Given the description of an element on the screen output the (x, y) to click on. 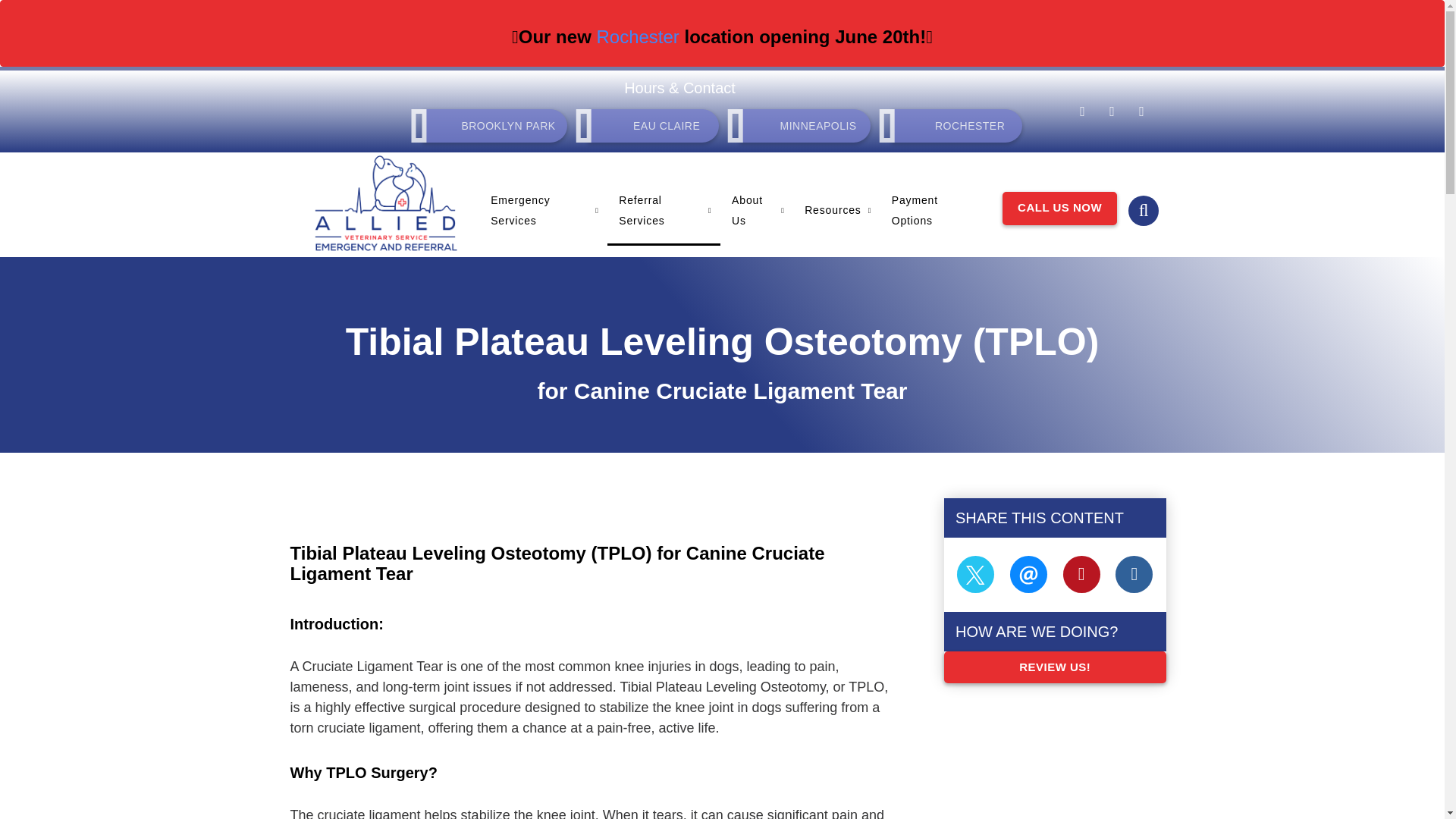
ROCHESTER (956, 125)
Rochester (956, 125)
EAU CLAIRE (653, 125)
Referral Services (663, 210)
Eau Claire (653, 125)
Emergency Services (543, 210)
Brooklyn Park (494, 125)
Home (385, 202)
BROOKLYN PARK (494, 125)
Minneapolis (804, 125)
